Given the description of an element on the screen output the (x, y) to click on. 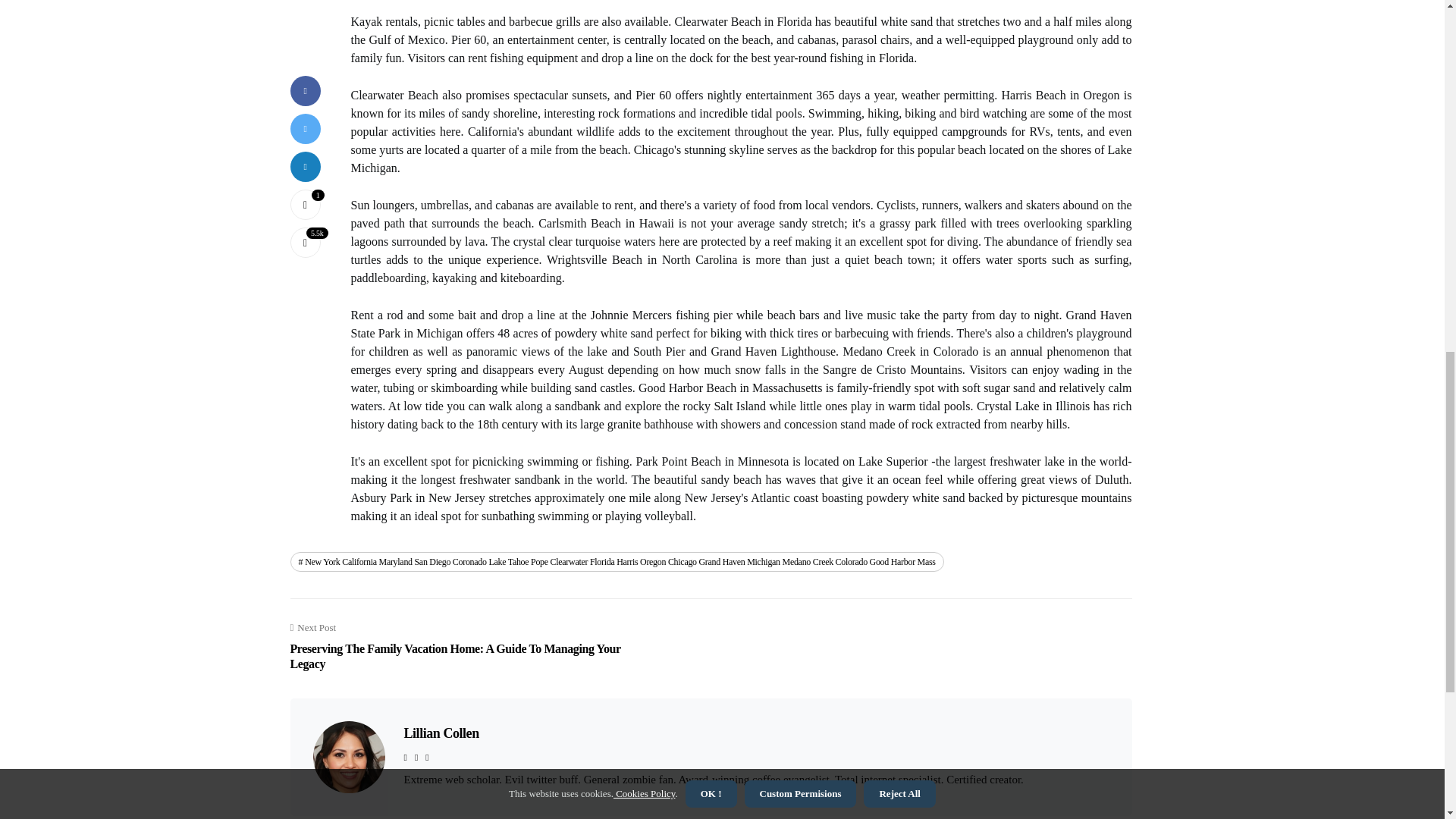
Lillian Collen (441, 733)
